Given the description of an element on the screen output the (x, y) to click on. 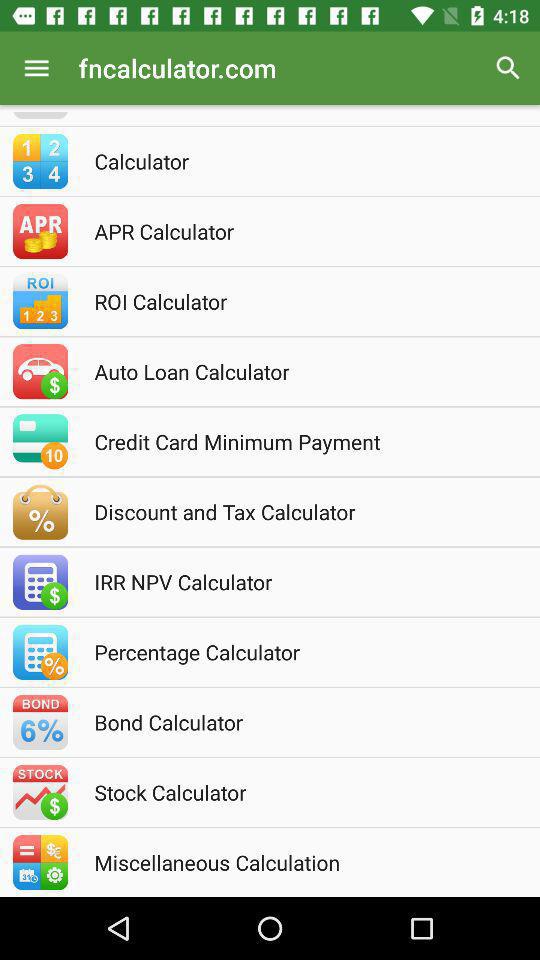
turn on percentage calculator item (297, 651)
